Given the description of an element on the screen output the (x, y) to click on. 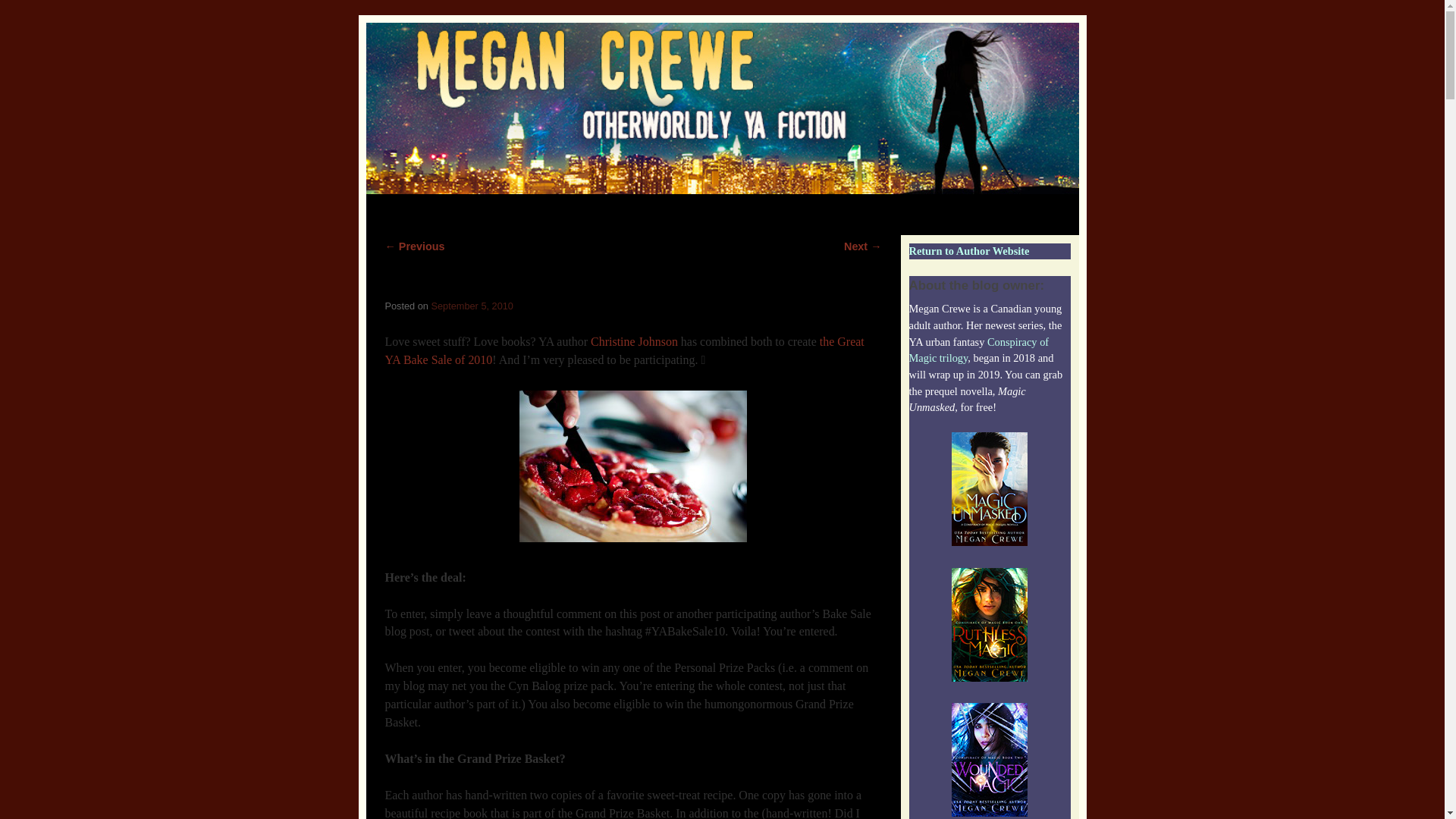
12:06 pm (471, 306)
the Great YA Bake Sale of 2010 (624, 350)
YA Author Megan Crewe (721, 108)
Christine Johnson (634, 341)
September 5, 2010 (471, 306)
